Given the description of an element on the screen output the (x, y) to click on. 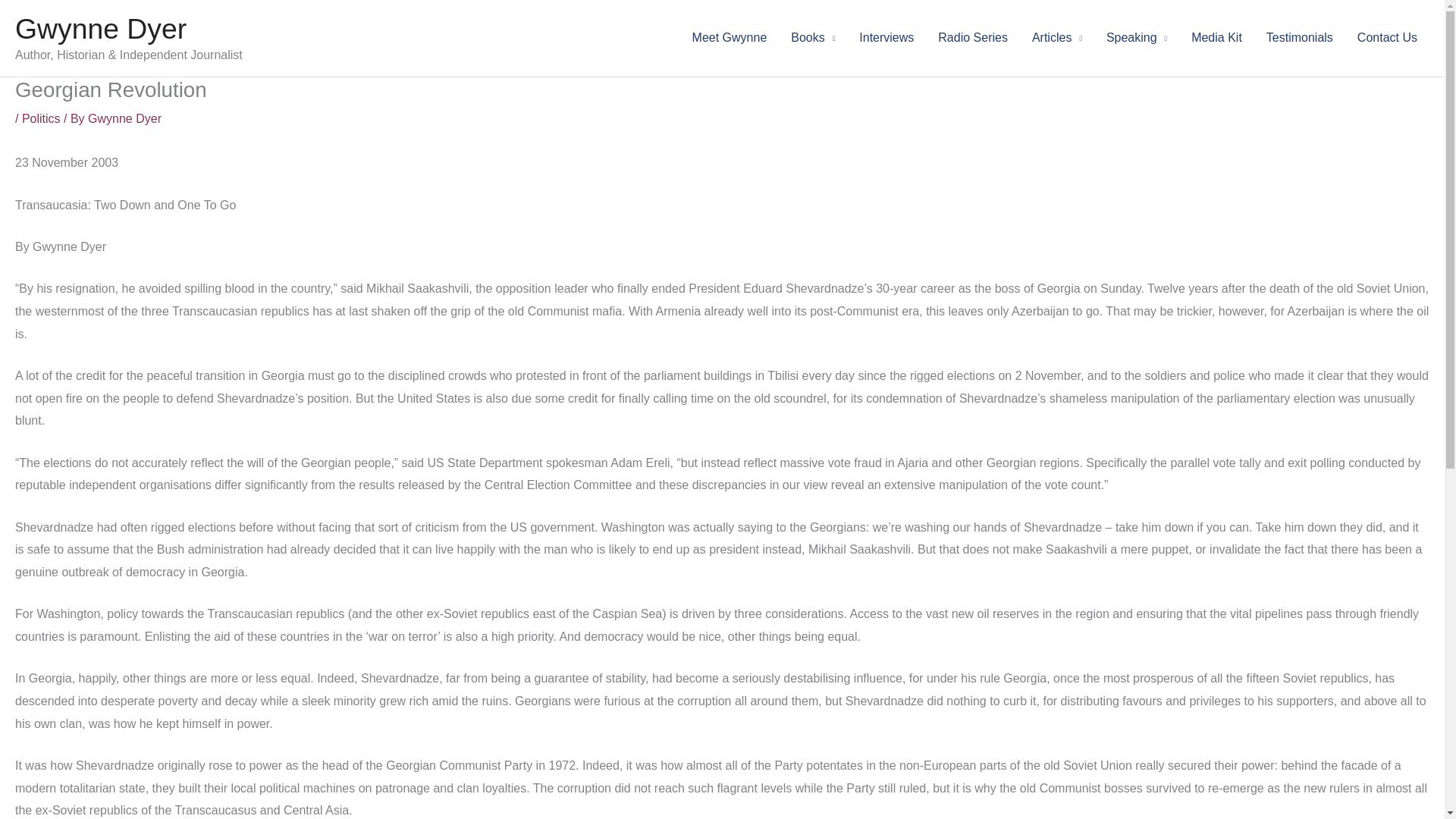
Gwynne Dyer (124, 118)
Contact Us (1387, 38)
Radio Series (973, 38)
View all posts by Gwynne Dyer (124, 118)
Meet Gwynne (728, 38)
Books (812, 38)
Gwynne Dyer (100, 29)
Interviews (886, 38)
Articles (1057, 38)
Speaking (1136, 38)
